Given the description of an element on the screen output the (x, y) to click on. 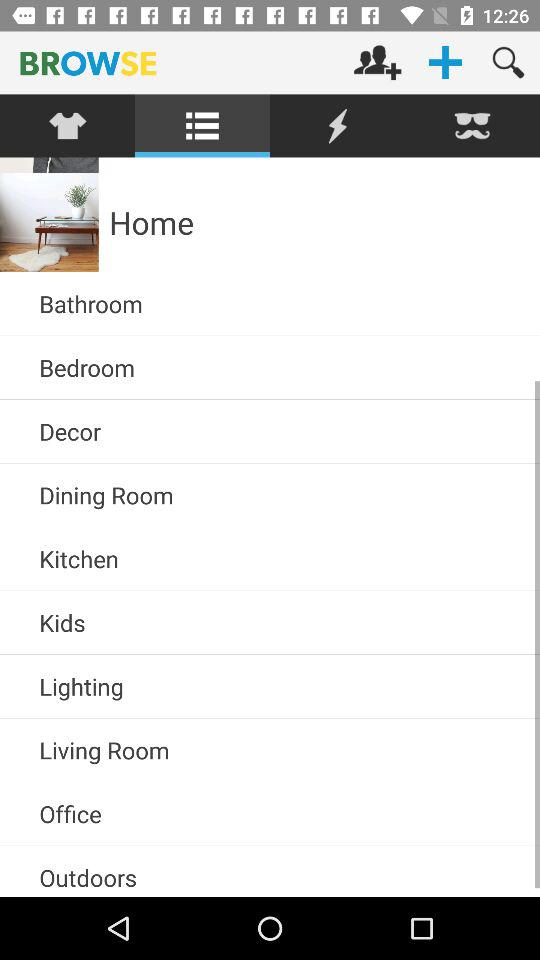
click menu option (202, 125)
